Given the description of an element on the screen output the (x, y) to click on. 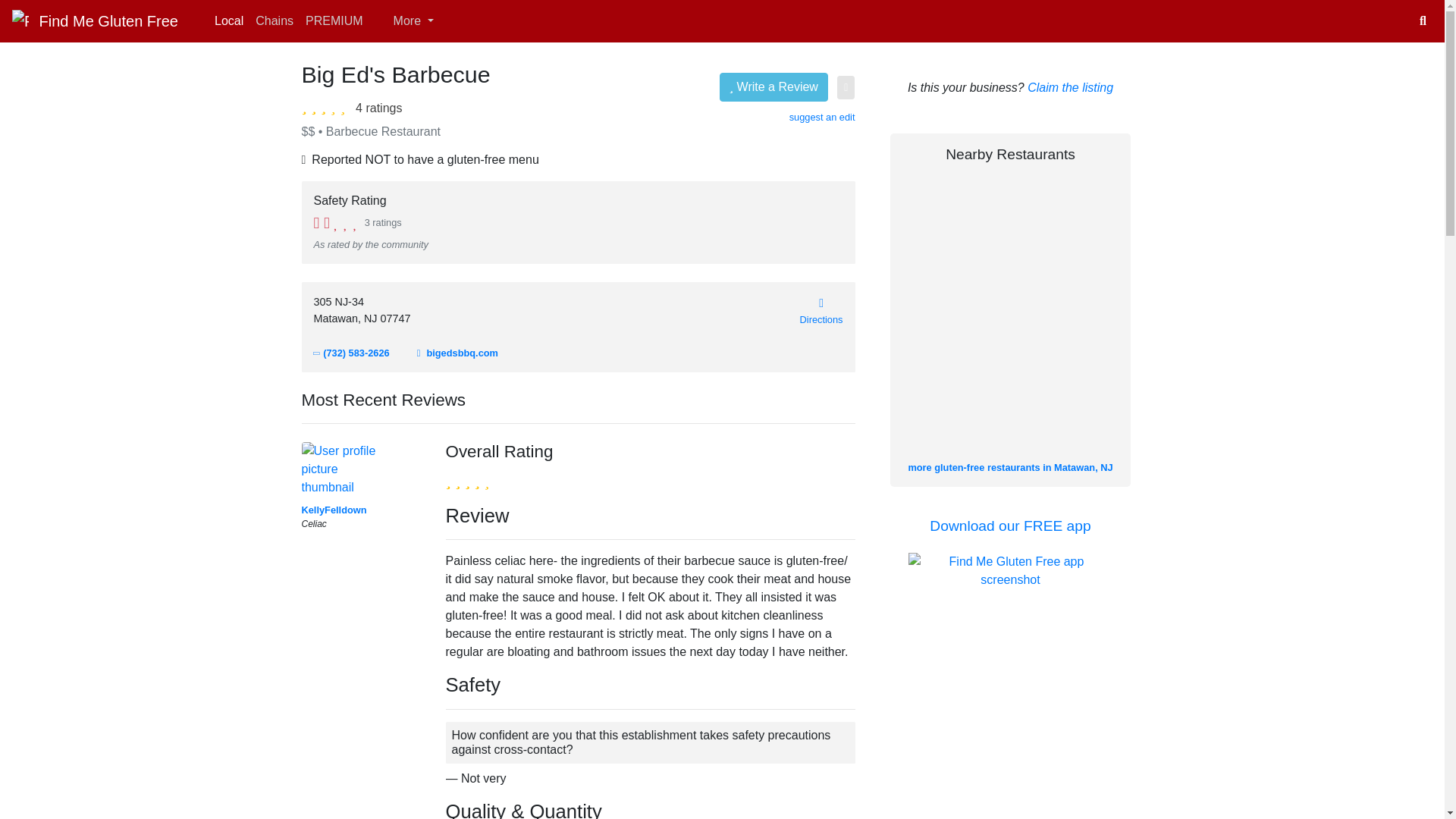
Claim the listing (1070, 87)
Chains (273, 20)
More (404, 20)
3.0 star rating (325, 105)
Find Me Gluten Free (94, 20)
Download our FREE app (1010, 525)
more gluten-free restaurants in Matawan, NJ (1009, 467)
Local (228, 20)
1.85 safety rating (336, 222)
Write a Review (773, 86)
